Given the description of an element on the screen output the (x, y) to click on. 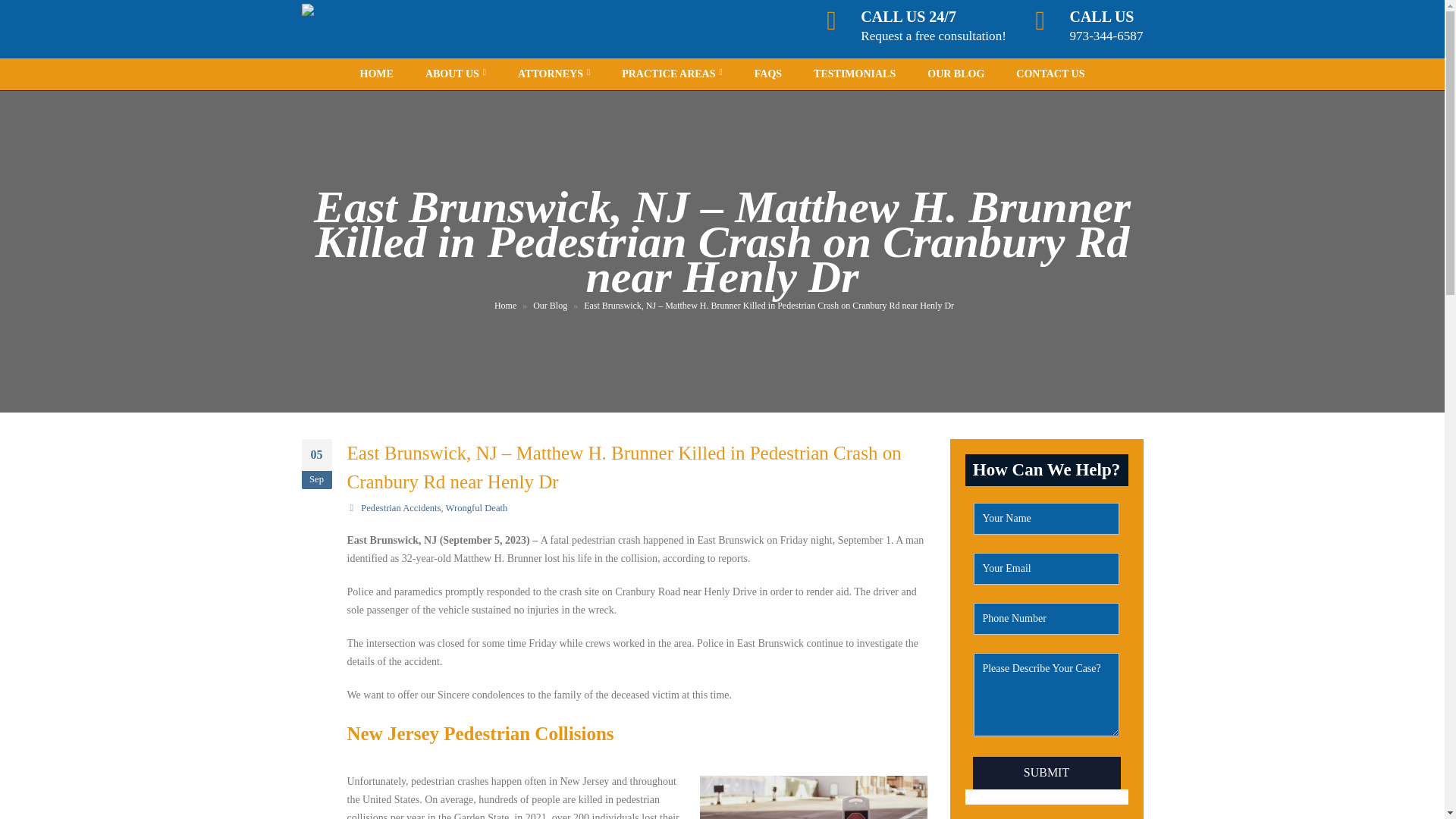
PRACTICE AREAS (672, 74)
ABOUT US (455, 74)
HOME (377, 74)
SUBMIT (1045, 772)
ATTORNEYS (553, 74)
